Given the description of an element on the screen output the (x, y) to click on. 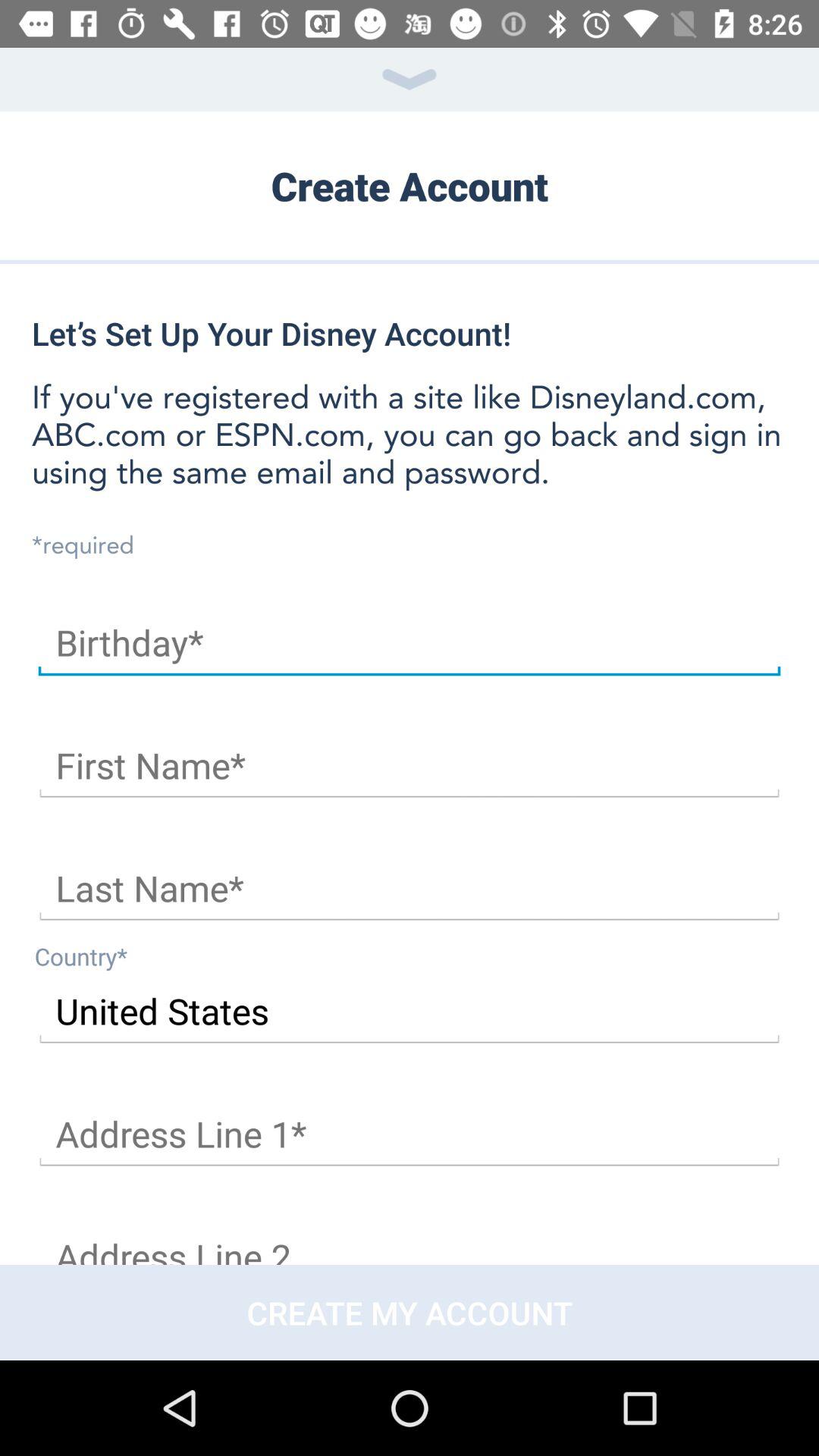
enter first name (409, 765)
